Given the description of an element on the screen output the (x, y) to click on. 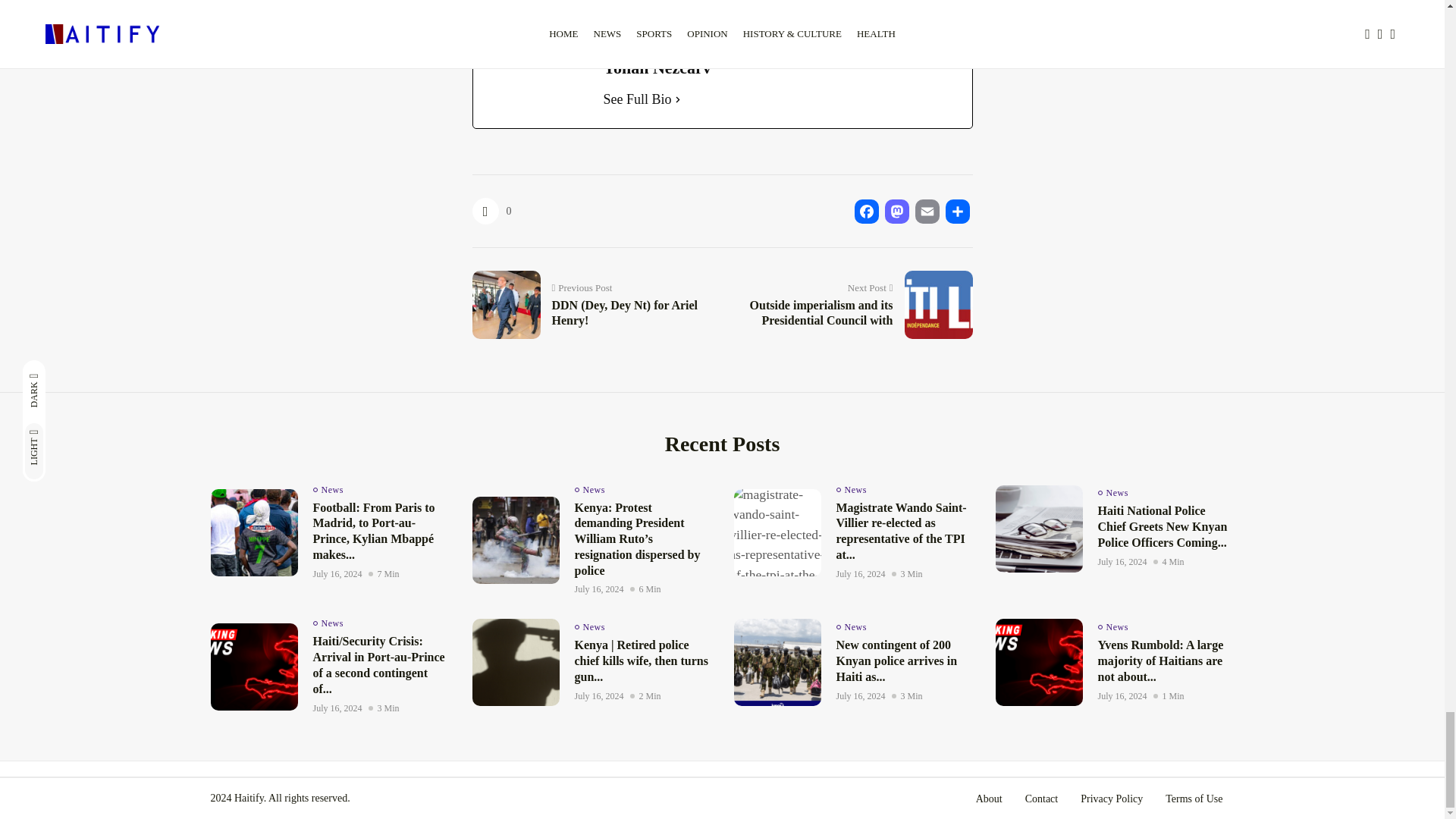
Facebook (486, 19)
Email (926, 211)
ddn-dey-dey-nt-for-ariel-henry - Haitify (502, 301)
Mastodon (895, 211)
Mastodon (517, 19)
Email (547, 19)
Facebook (865, 211)
